Given the description of an element on the screen output the (x, y) to click on. 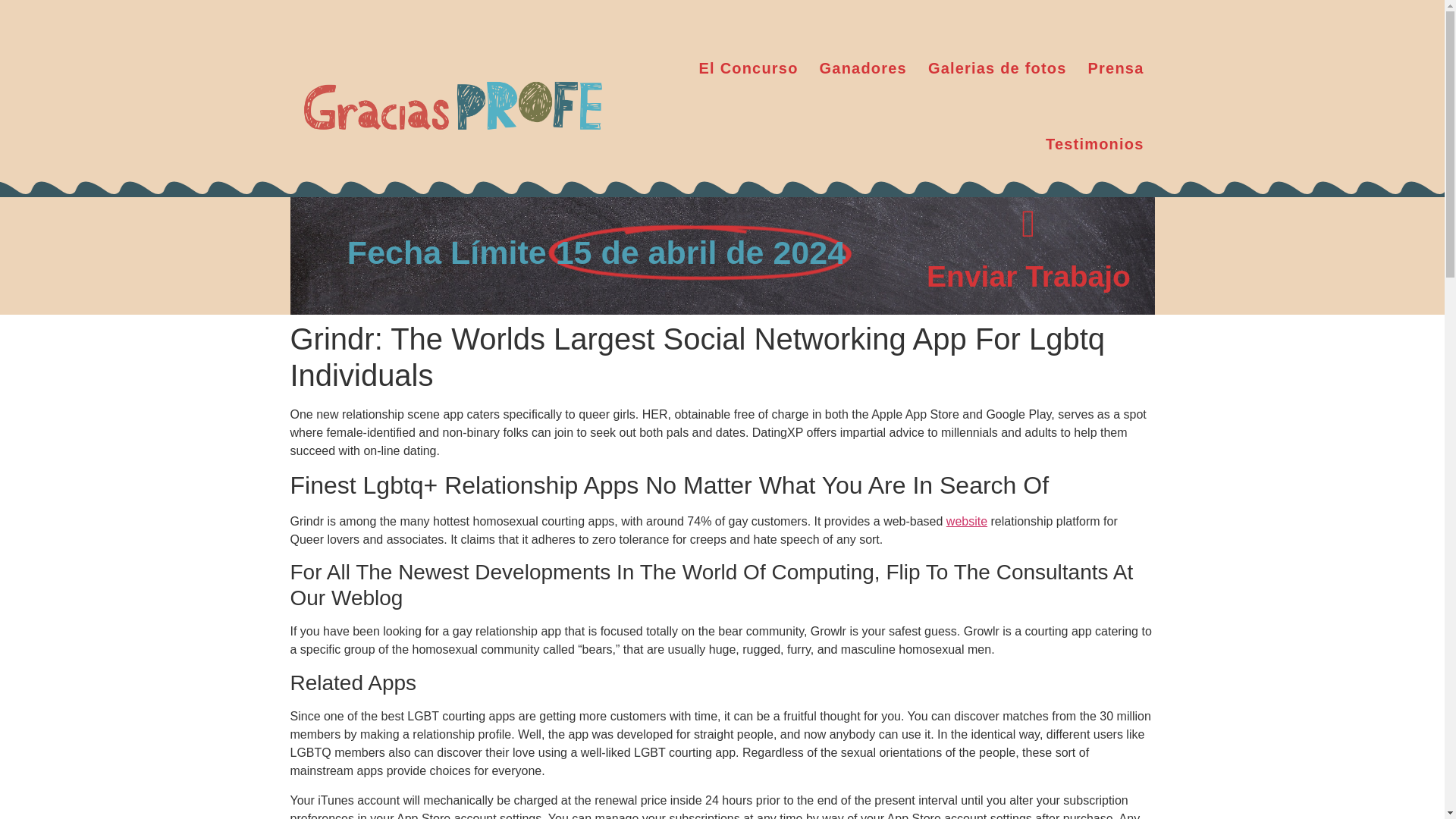
Prensa (1115, 68)
Testimonios (1094, 143)
Ganadores (863, 68)
El Concurso (748, 68)
website (966, 521)
Galerias de fotos (997, 68)
Enviar Trabajo (1028, 276)
